Given the description of an element on the screen output the (x, y) to click on. 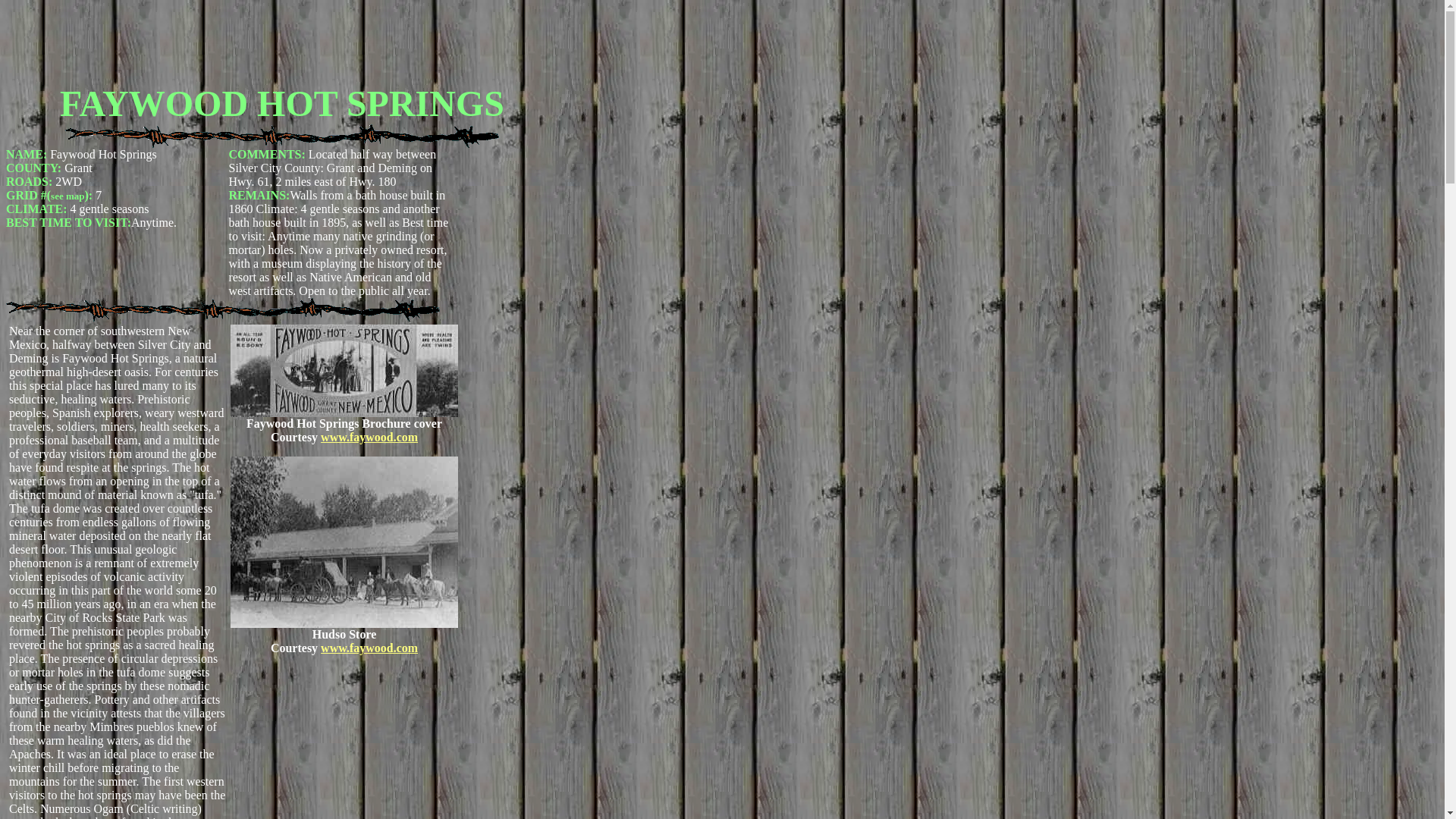
www.faywood.com (368, 436)
www.faywood.com (368, 647)
Advertisement (281, 39)
